Given the description of an element on the screen output the (x, y) to click on. 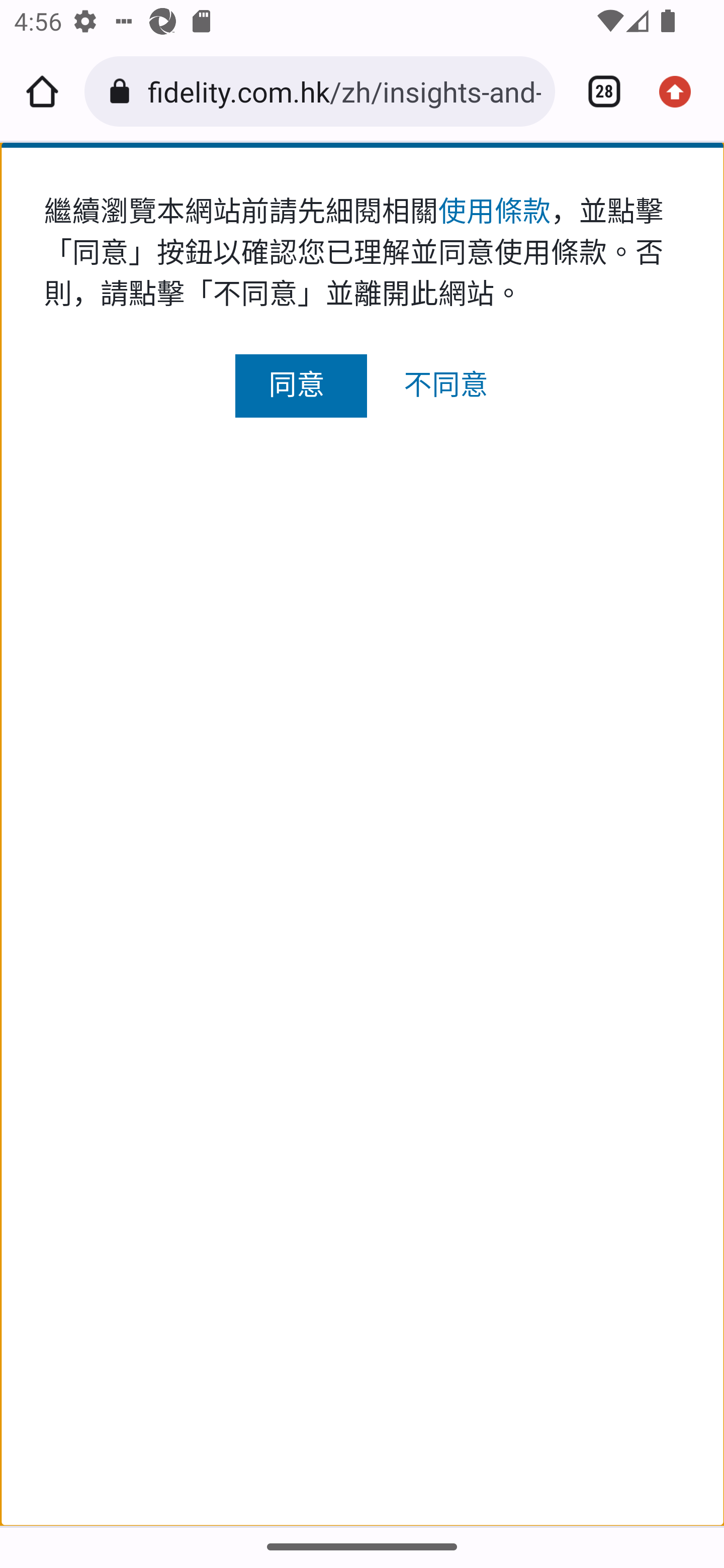
Home (42, 91)
Connection is secure (122, 91)
Switch or close tabs (597, 91)
Update available. More options (681, 91)
zh  (362, 228)
使用條款 (494, 211)
